Given the description of an element on the screen output the (x, y) to click on. 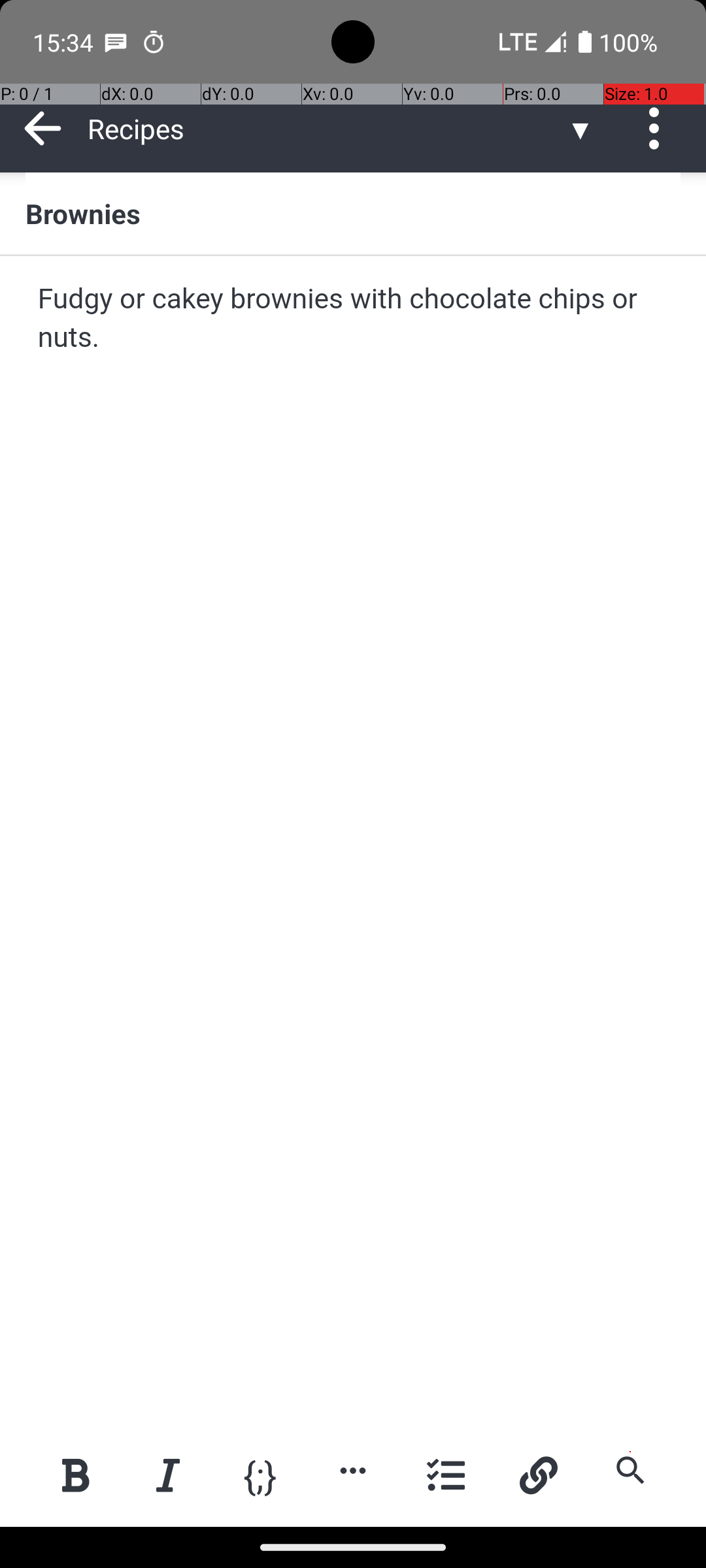
Brownies Element type: android.widget.EditText (352, 213)
Fudgy or cakey brownies with chocolate chips or nuts. Element type: android.widget.EditText (354, 318)
